Given the description of an element on the screen output the (x, y) to click on. 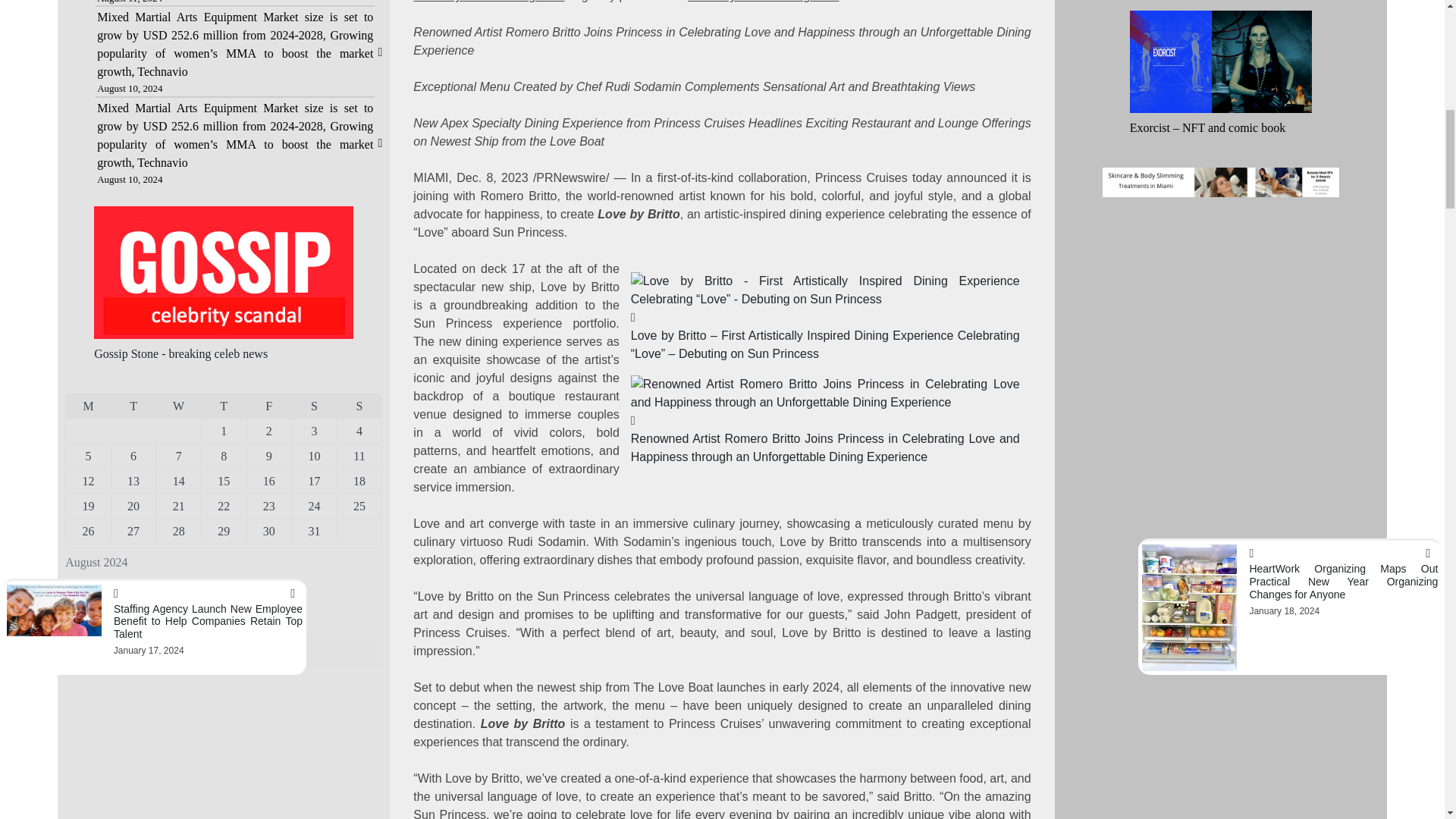
Thursday (223, 406)
Friday (269, 406)
Saturday (314, 406)
10 (313, 455)
Gossip Stone - breaking celeb news (180, 353)
Tuesday (132, 406)
Monday (88, 406)
Sunday (358, 406)
Wednesday (178, 406)
